Given the description of an element on the screen output the (x, y) to click on. 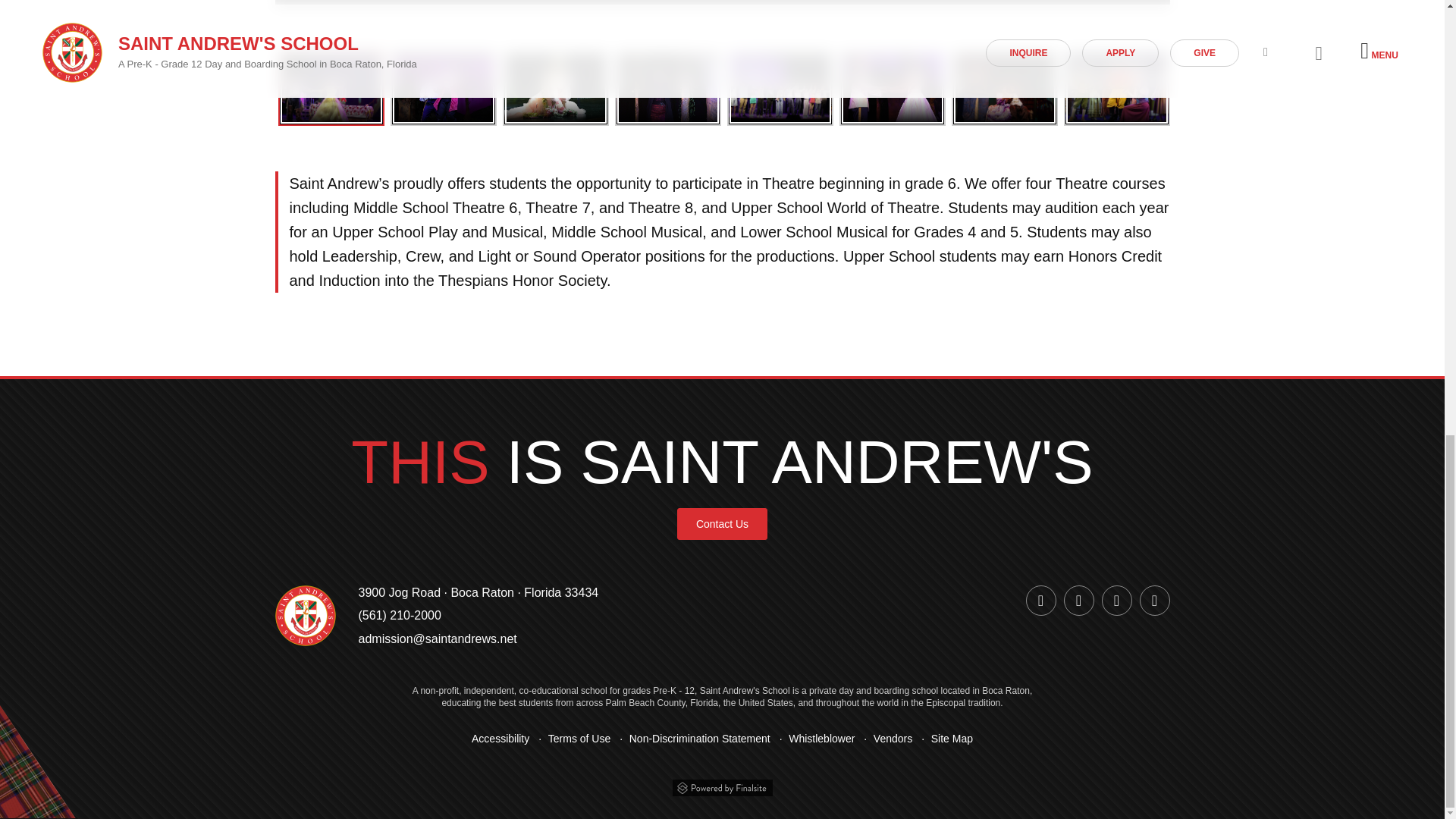
Powered by Finalsite opens in a new window (721, 786)
